Given the description of an element on the screen output the (x, y) to click on. 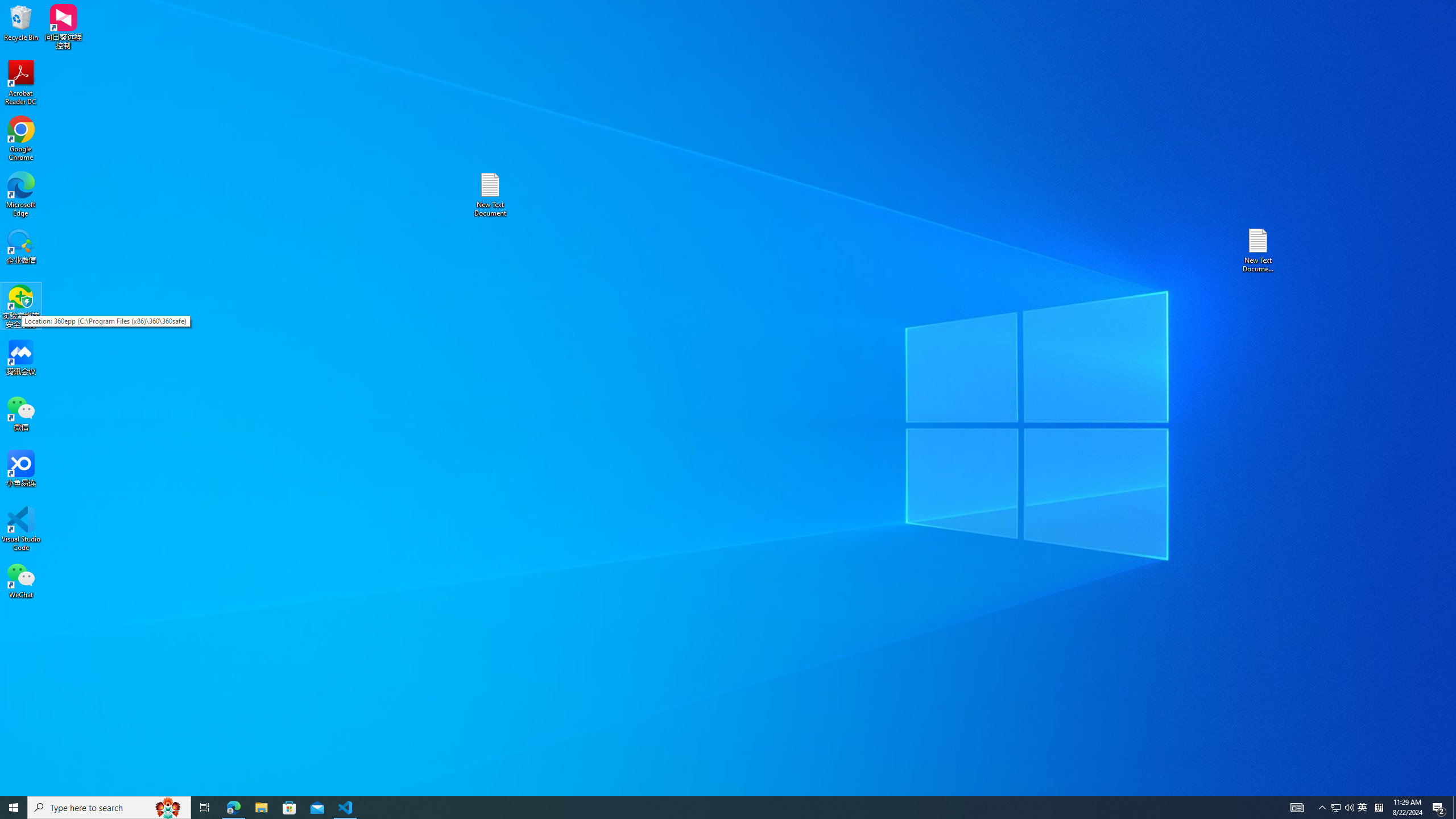
Start (13, 807)
Microsoft Edge - 1 running window (233, 807)
Tray Input Indicator - Chinese (Simplified, China) (1378, 807)
Google Chrome (21, 138)
Microsoft Store (289, 807)
Type here to search (108, 807)
Visual Studio Code (21, 528)
Microsoft Edge (21, 194)
Show desktop (1454, 807)
Search highlights icon opens search home window (167, 807)
WeChat (21, 580)
